Given the description of an element on the screen output the (x, y) to click on. 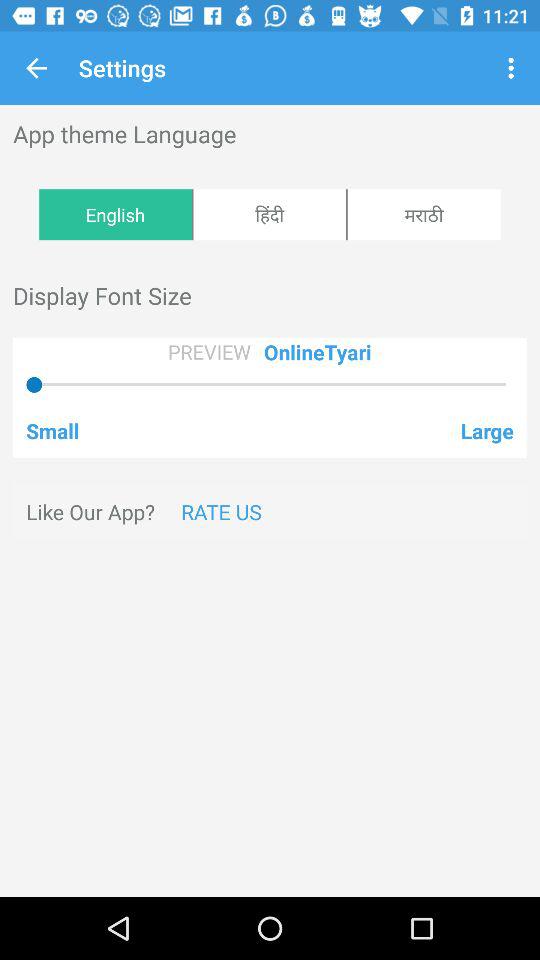
click rate us item (221, 511)
